Given the description of an element on the screen output the (x, y) to click on. 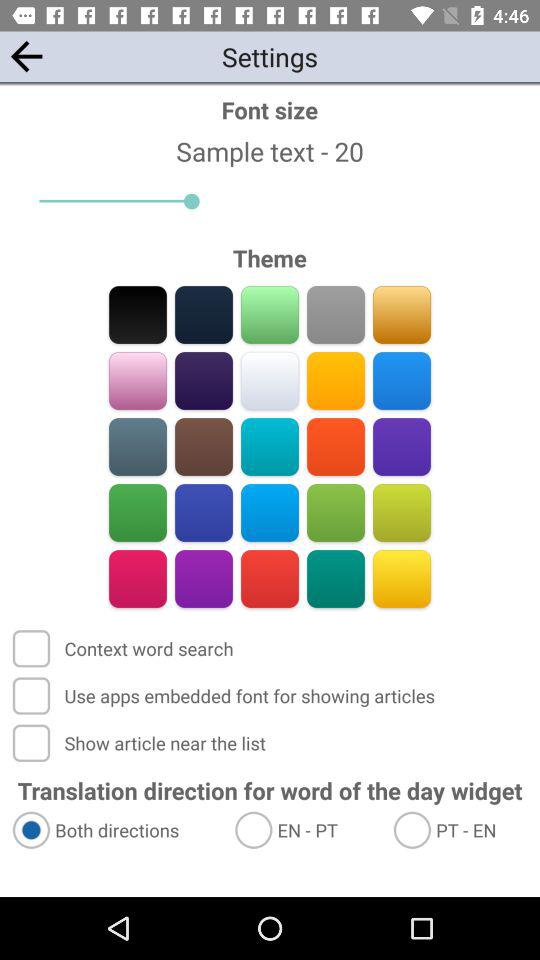
orange theme color (335, 380)
